Given the description of an element on the screen output the (x, y) to click on. 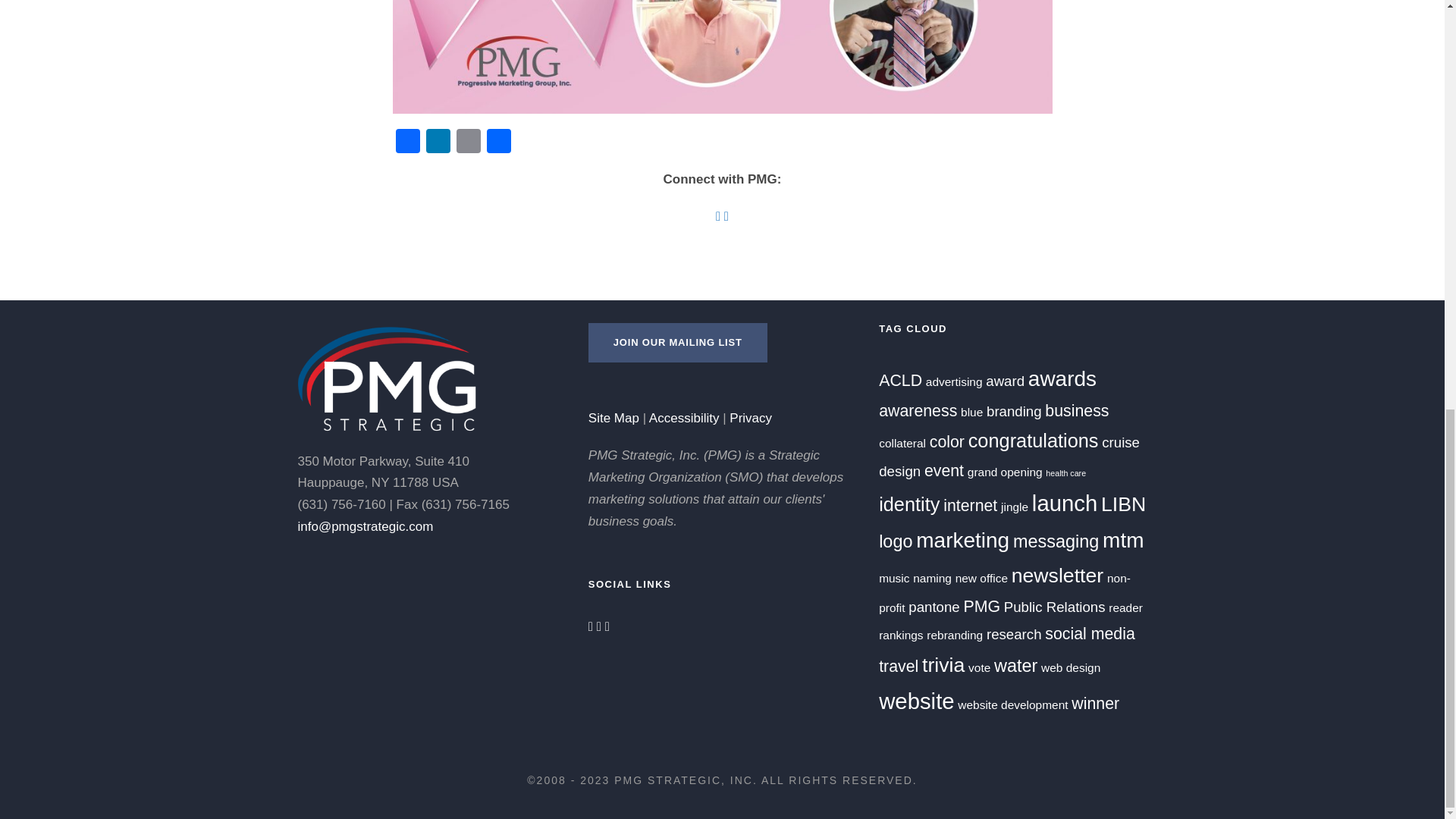
Share (498, 142)
Facebook (408, 142)
LinkedIn (437, 142)
Email (467, 142)
LinkedIn (437, 142)
Site Map (613, 418)
Facebook (408, 142)
Privacy (750, 418)
ACLD (900, 380)
JOIN OUR MAILING LIST (677, 342)
